Given the description of an element on the screen output the (x, y) to click on. 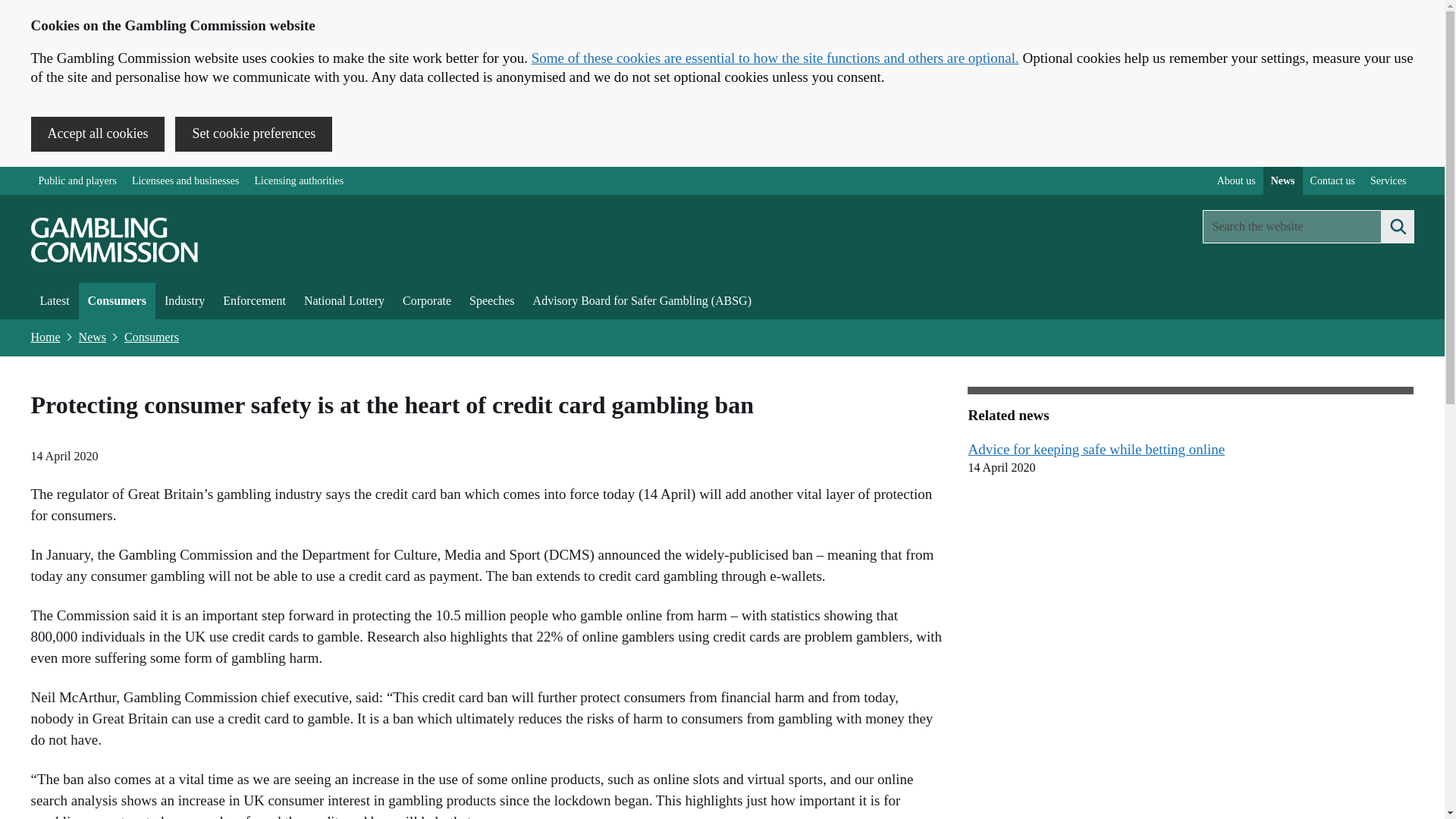
Accept all cookies (97, 134)
Skip to main content (11, 174)
About us (1236, 180)
News (1283, 180)
Set cookie preferences (252, 134)
Public and players (76, 180)
News (92, 337)
Services (1387, 180)
Consumers (151, 337)
Enforcement (254, 300)
